Given the description of an element on the screen output the (x, y) to click on. 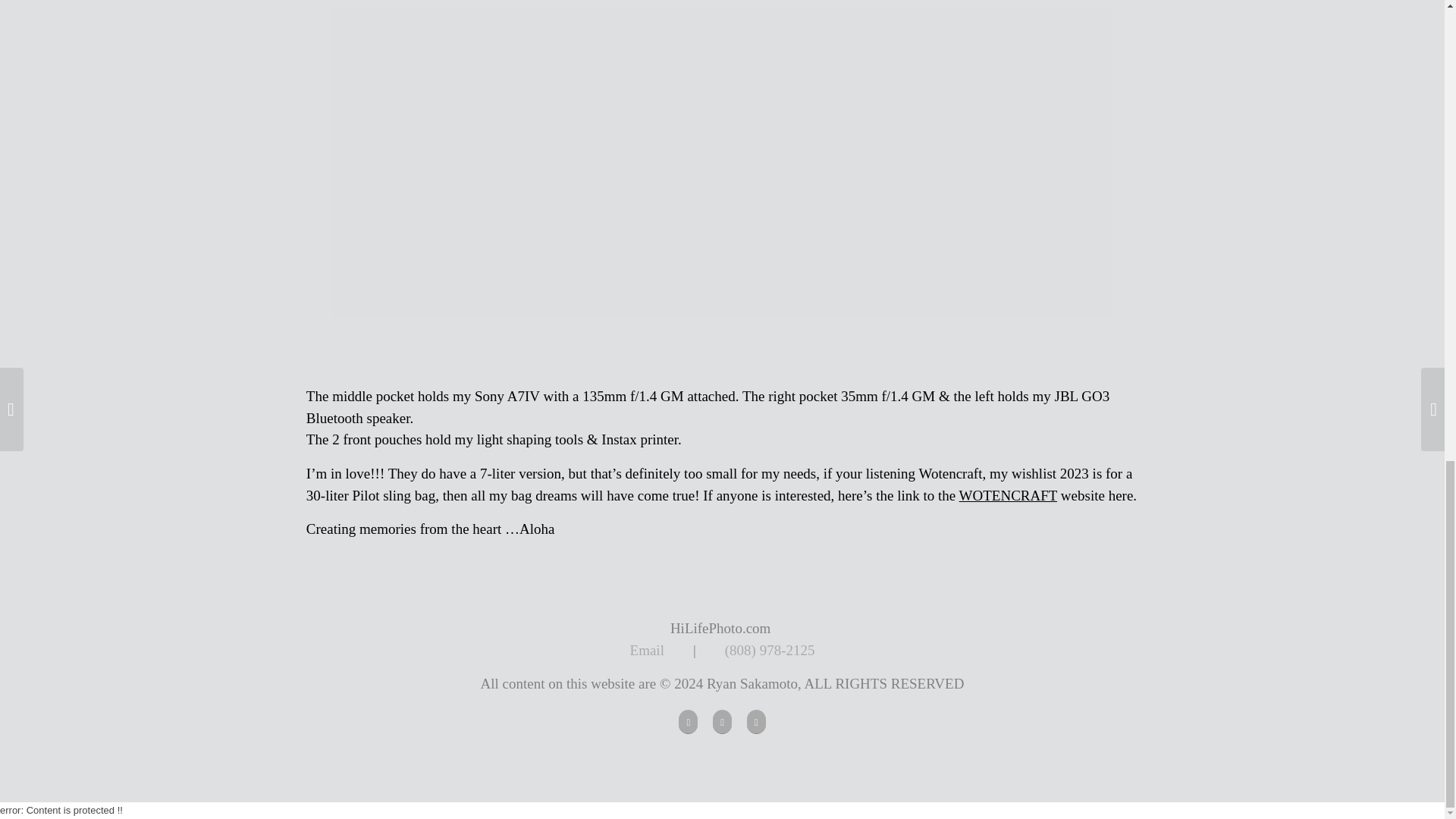
WOTENCRAFT (1008, 495)
Email (646, 650)
